Given the description of an element on the screen output the (x, y) to click on. 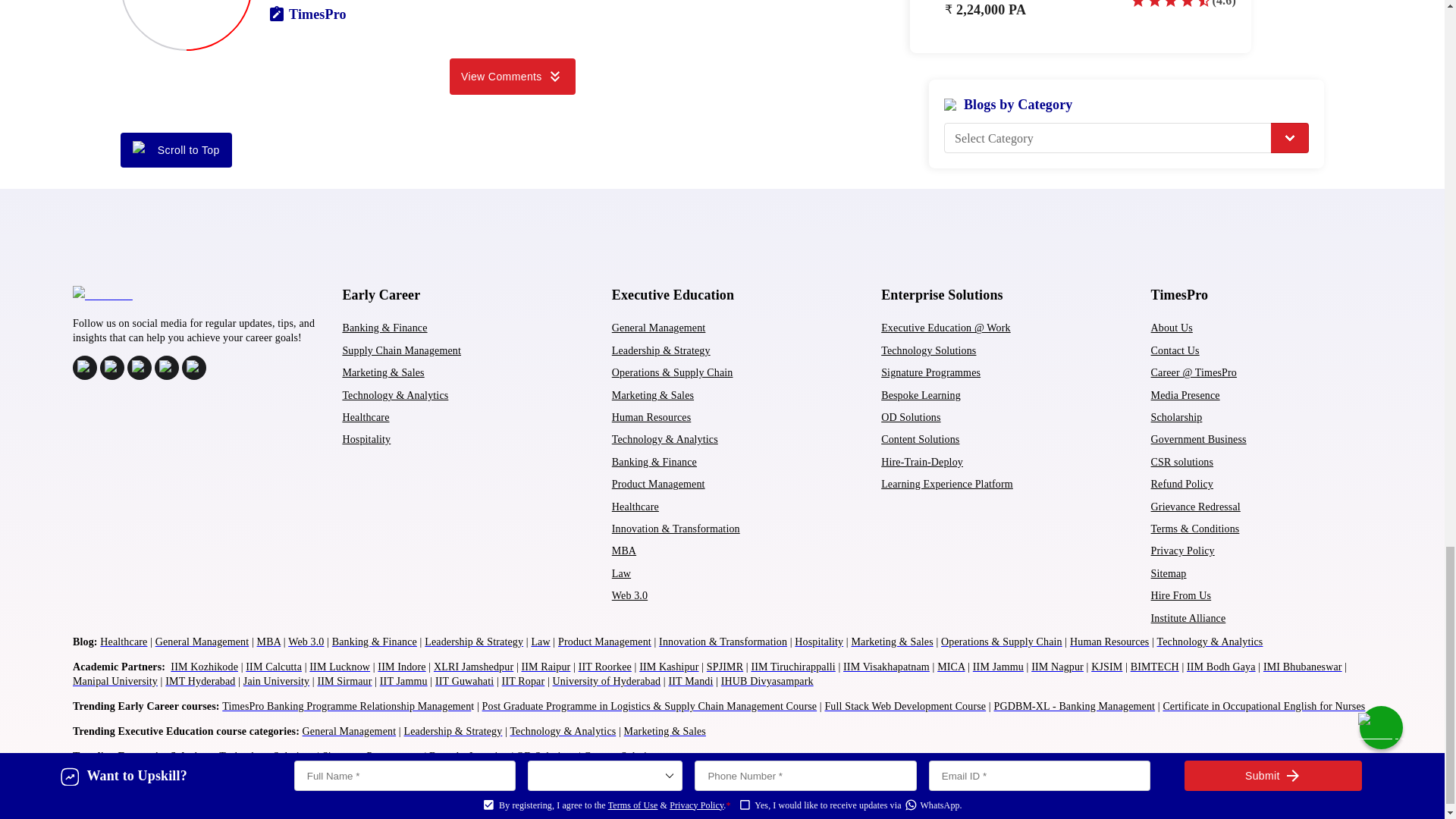
Human Resources (651, 417)
Hospitality (366, 439)
Scroll to Top (175, 149)
Supply Chain Management (401, 350)
General Management (658, 327)
View Comments (512, 76)
Healthcare (365, 417)
